Given the description of an element on the screen output the (x, y) to click on. 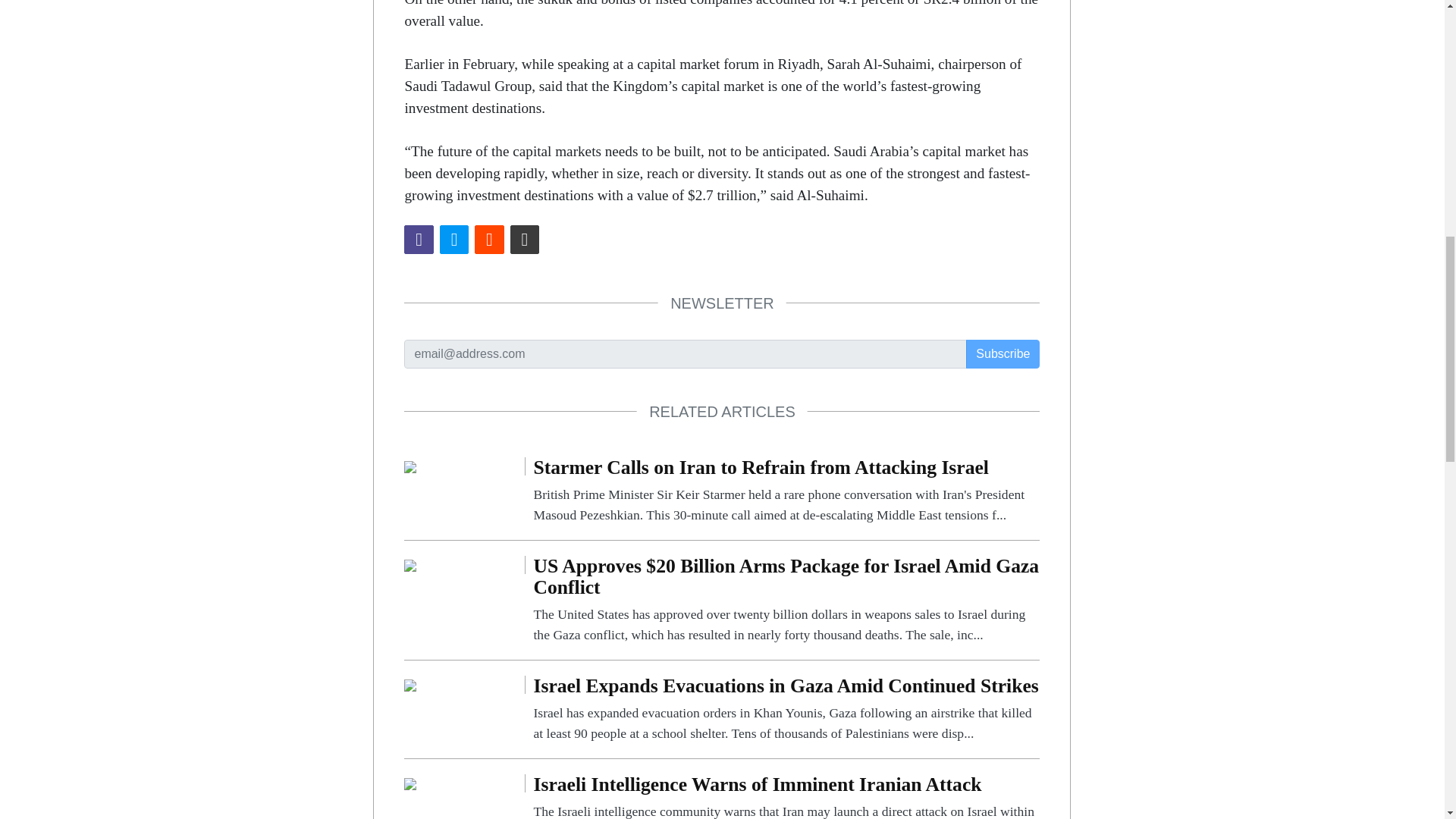
Israeli Intelligence Warns of Imminent Iranian Attack (410, 782)
Subscribe (1002, 353)
Starmer Calls on Iran to Refrain from Attacking Israel (785, 490)
Israeli Intelligence Warns of Imminent Iranian Attack (785, 796)
Israel Expands Evacuations in Gaza Amid Continued Strikes (410, 684)
Israel Expands Evacuations in Gaza Amid Continued Strikes (785, 708)
Starmer Calls on Iran to Refrain from Attacking Israel (410, 465)
